Given the description of an element on the screen output the (x, y) to click on. 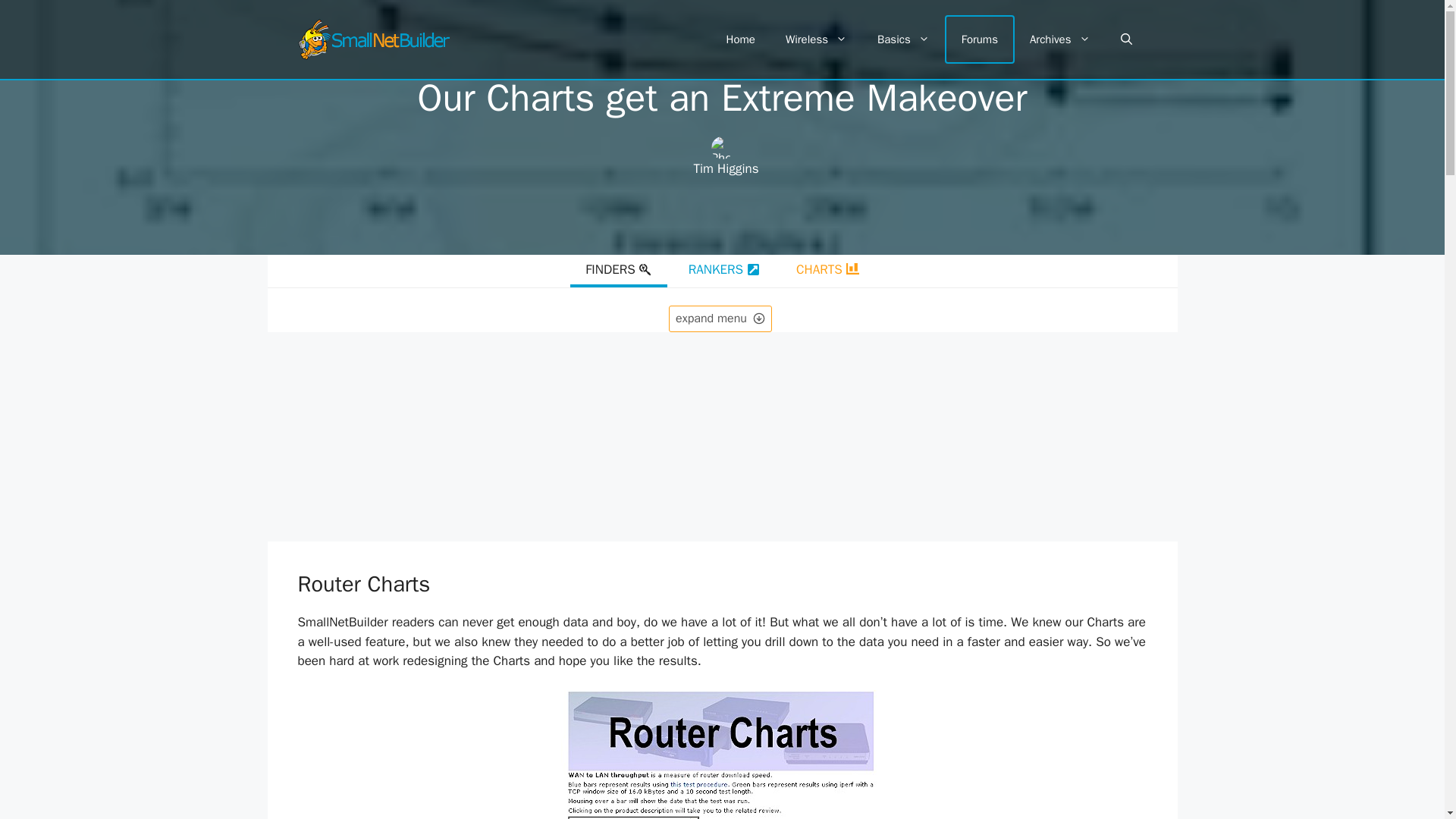
Home (740, 39)
Basics (902, 39)
Archives (1059, 39)
Forums (979, 39)
Wireless (815, 39)
Router Chart WAN to LAN Throughput (721, 754)
